Given the description of an element on the screen output the (x, y) to click on. 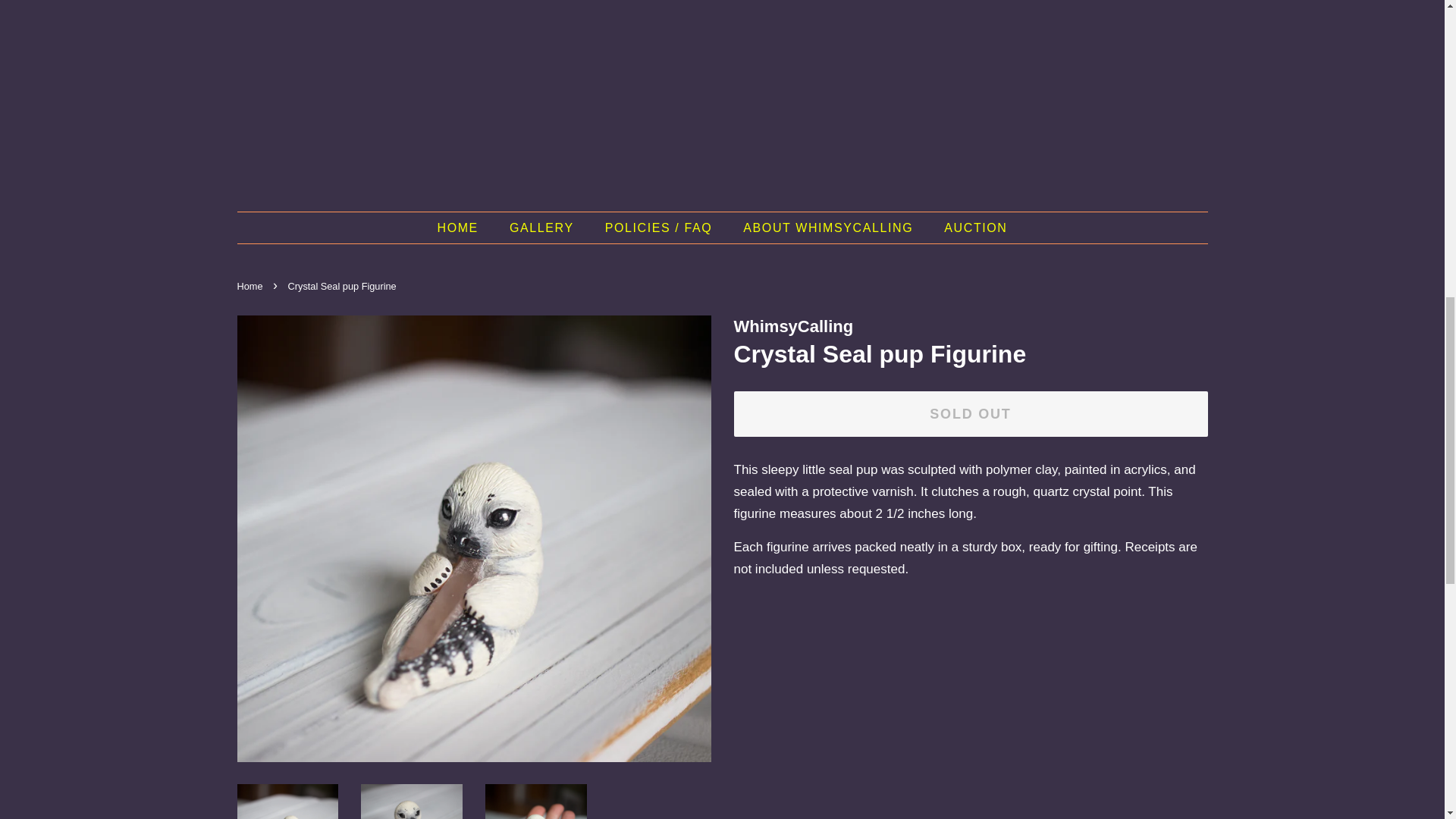
Home (250, 285)
GALLERY (543, 227)
HOME (464, 227)
AUCTION (970, 227)
ABOUT WHIMSYCALLING (830, 227)
Back to the frontpage (250, 285)
SOLD OUT (970, 413)
